Given the description of an element on the screen output the (x, y) to click on. 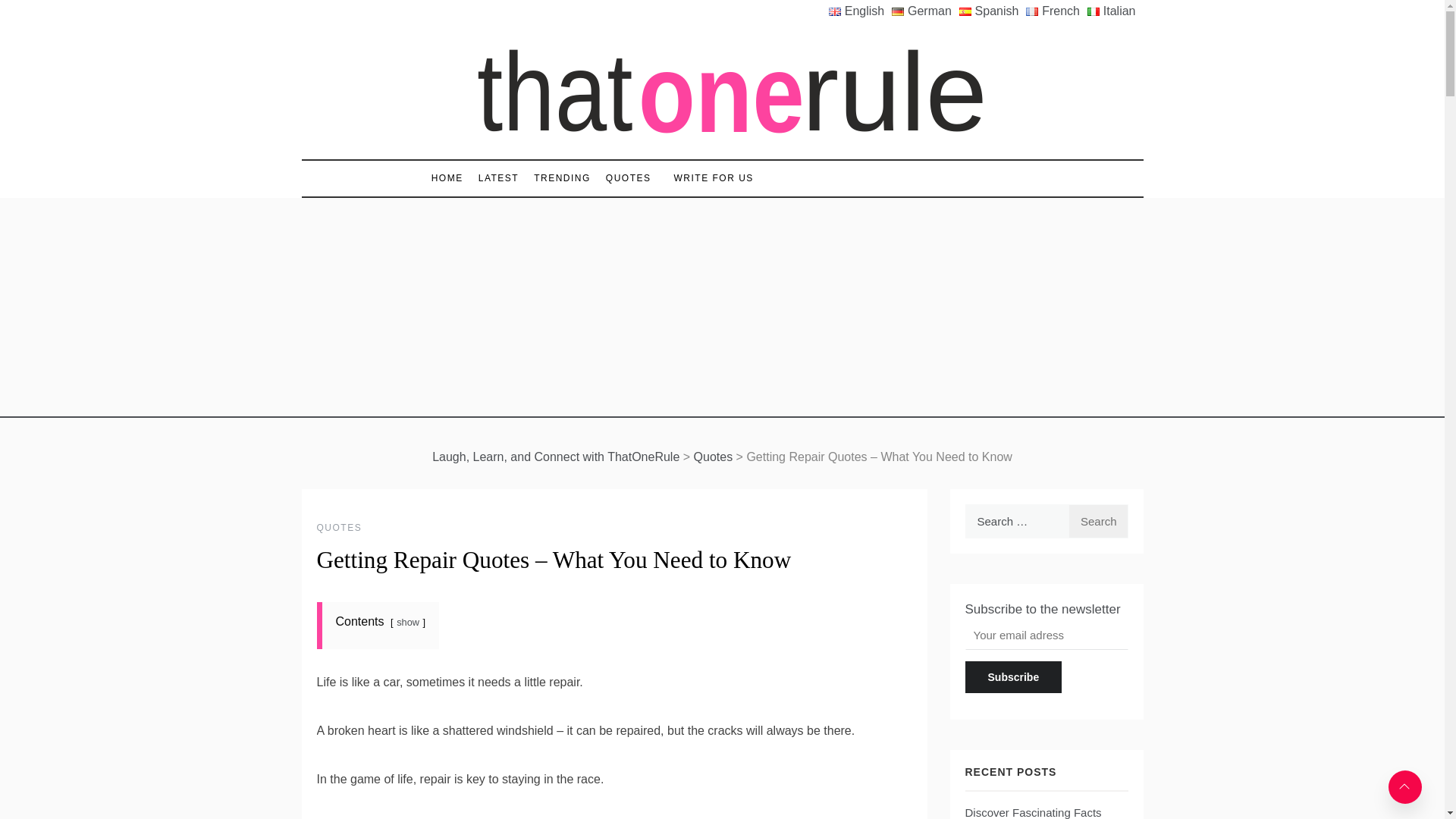
Spanish (992, 11)
Search (1098, 521)
English (859, 11)
QUOTES (628, 178)
French (1056, 11)
Search (1098, 521)
WRITE FOR US (706, 178)
LATEST (497, 178)
QUOTES (339, 527)
logo2 (722, 90)
German (925, 11)
show (407, 622)
Search (1098, 521)
thatonerule.com (500, 164)
